Given the description of an element on the screen output the (x, y) to click on. 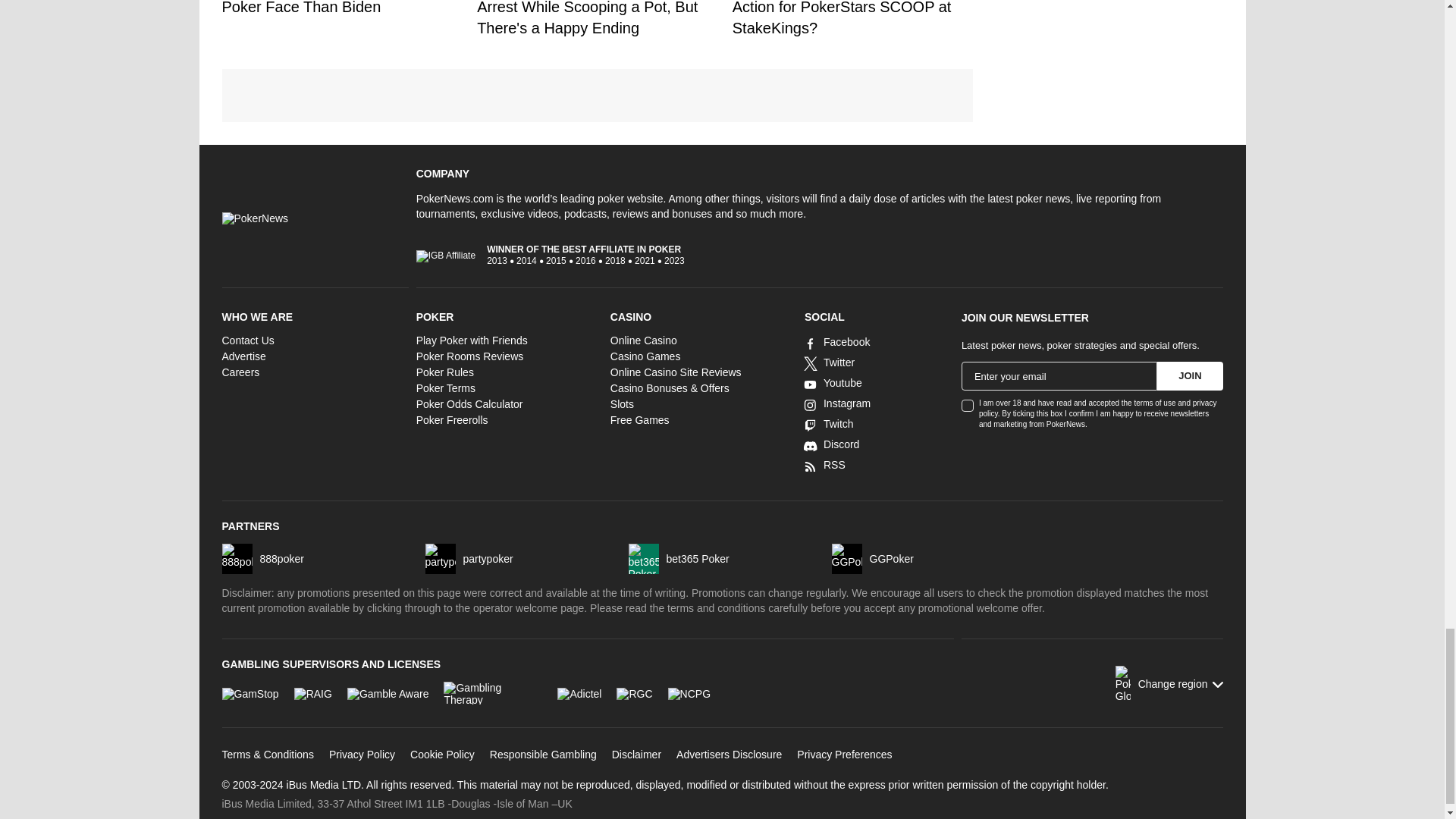
National Council on Problem Gambling (689, 693)
Adictel (579, 693)
Responsible Gambling Council (633, 693)
GambleAware (388, 693)
GamStop (249, 693)
Raig (312, 693)
Gambling Therapy (492, 692)
on (967, 405)
